Given the description of an element on the screen output the (x, y) to click on. 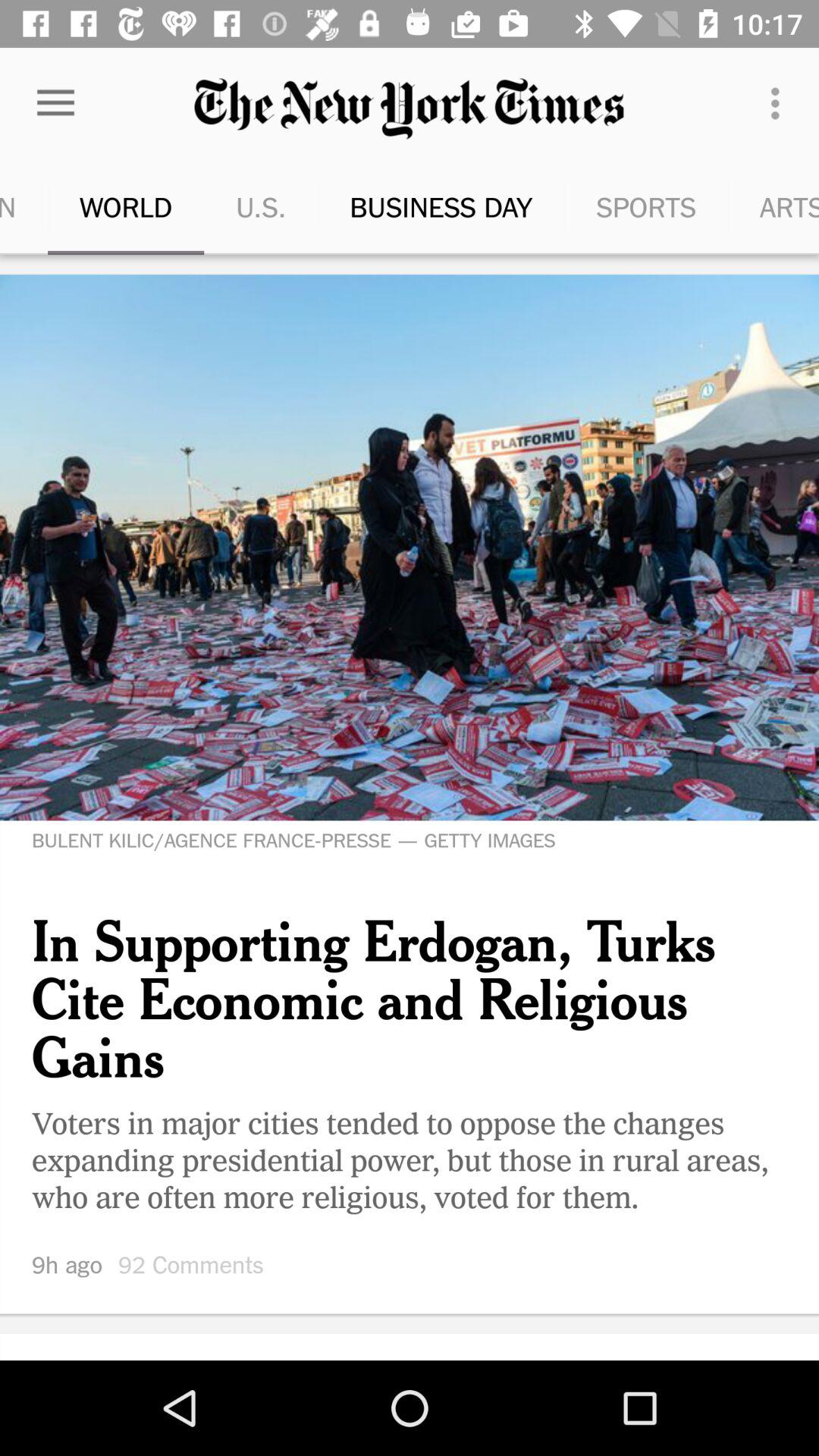
press the icon to the left of the u.s. (55, 103)
